Given the description of an element on the screen output the (x, y) to click on. 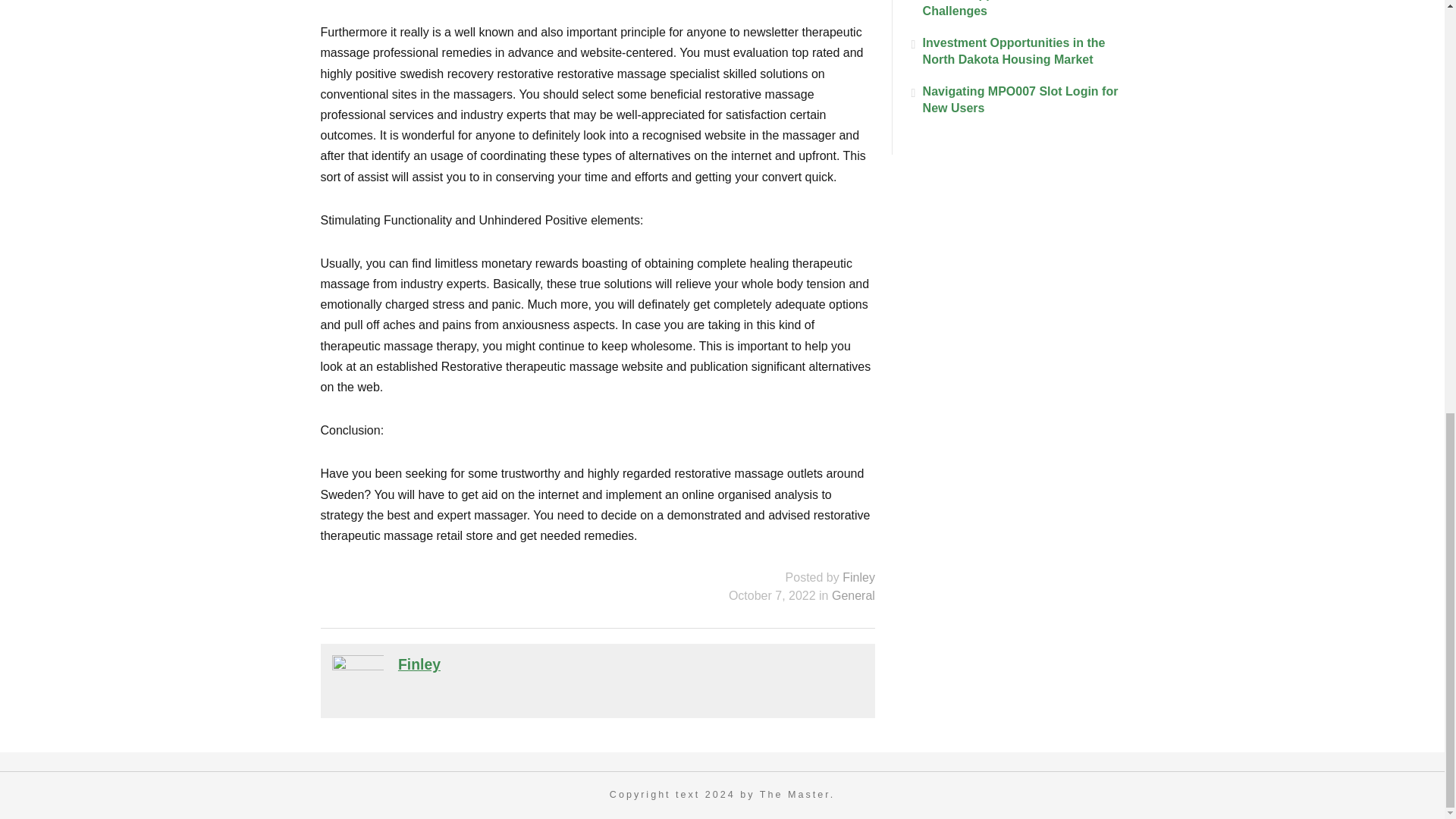
Finley (859, 576)
Navigating MPO007 Slot Login for New Users (1017, 100)
Investment Opportunities in the North Dakota Housing Market (1017, 51)
Finley (419, 664)
General (853, 594)
